Given the description of an element on the screen output the (x, y) to click on. 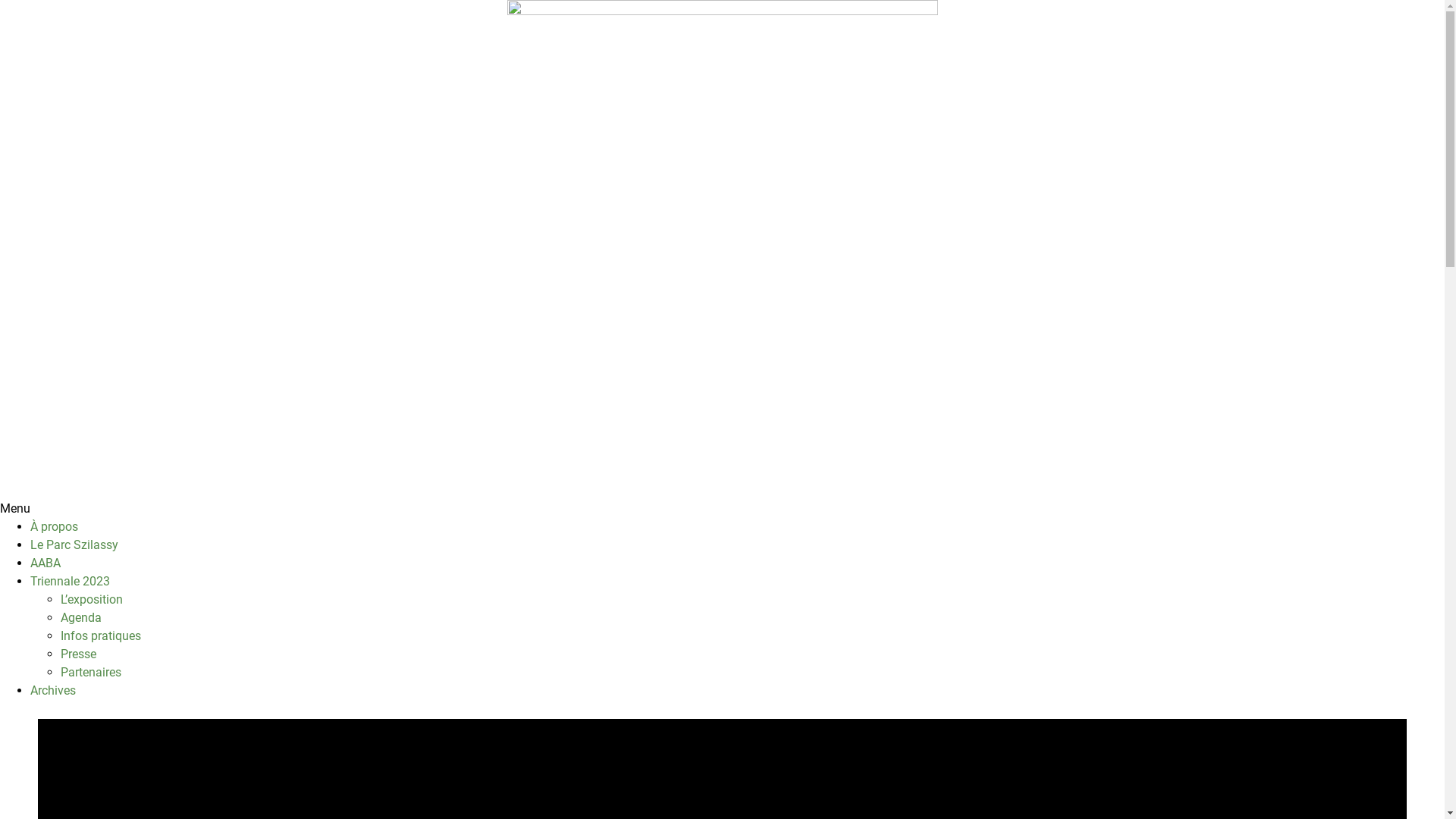
Partenaires Element type: text (90, 672)
Agenda Element type: text (80, 617)
Le Parc Szilassy Element type: text (74, 544)
AABA Element type: text (45, 562)
Archives Element type: text (52, 690)
Infos pratiques Element type: text (100, 635)
Presse Element type: text (78, 653)
Triennale 2023 Element type: text (69, 581)
